Given the description of an element on the screen output the (x, y) to click on. 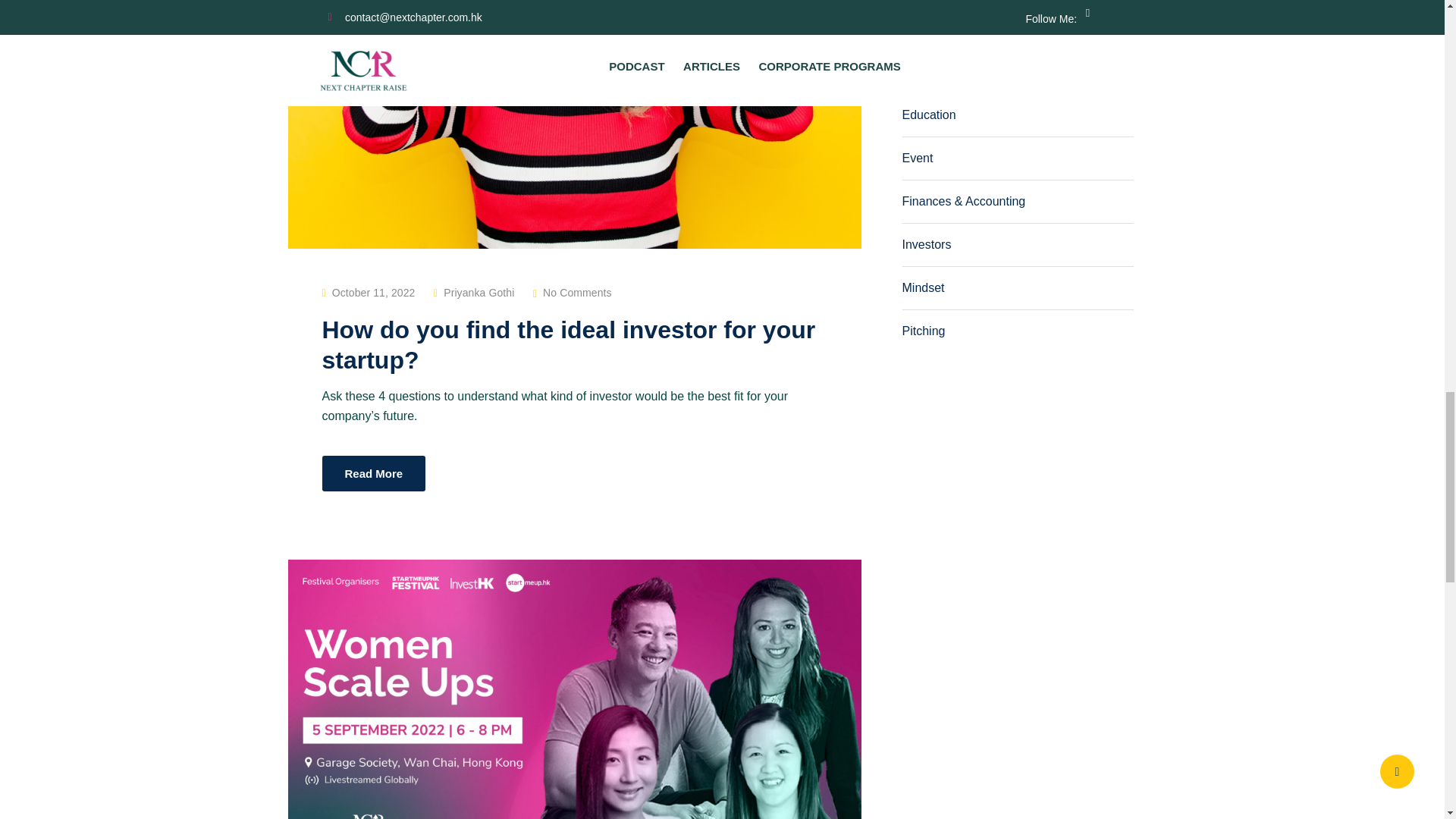
How do you find the ideal investor for your startup? (568, 344)
Read More (373, 473)
No Comments (577, 292)
October 11, 2022 (372, 292)
Priyanka Gothi (478, 292)
